Given the description of an element on the screen output the (x, y) to click on. 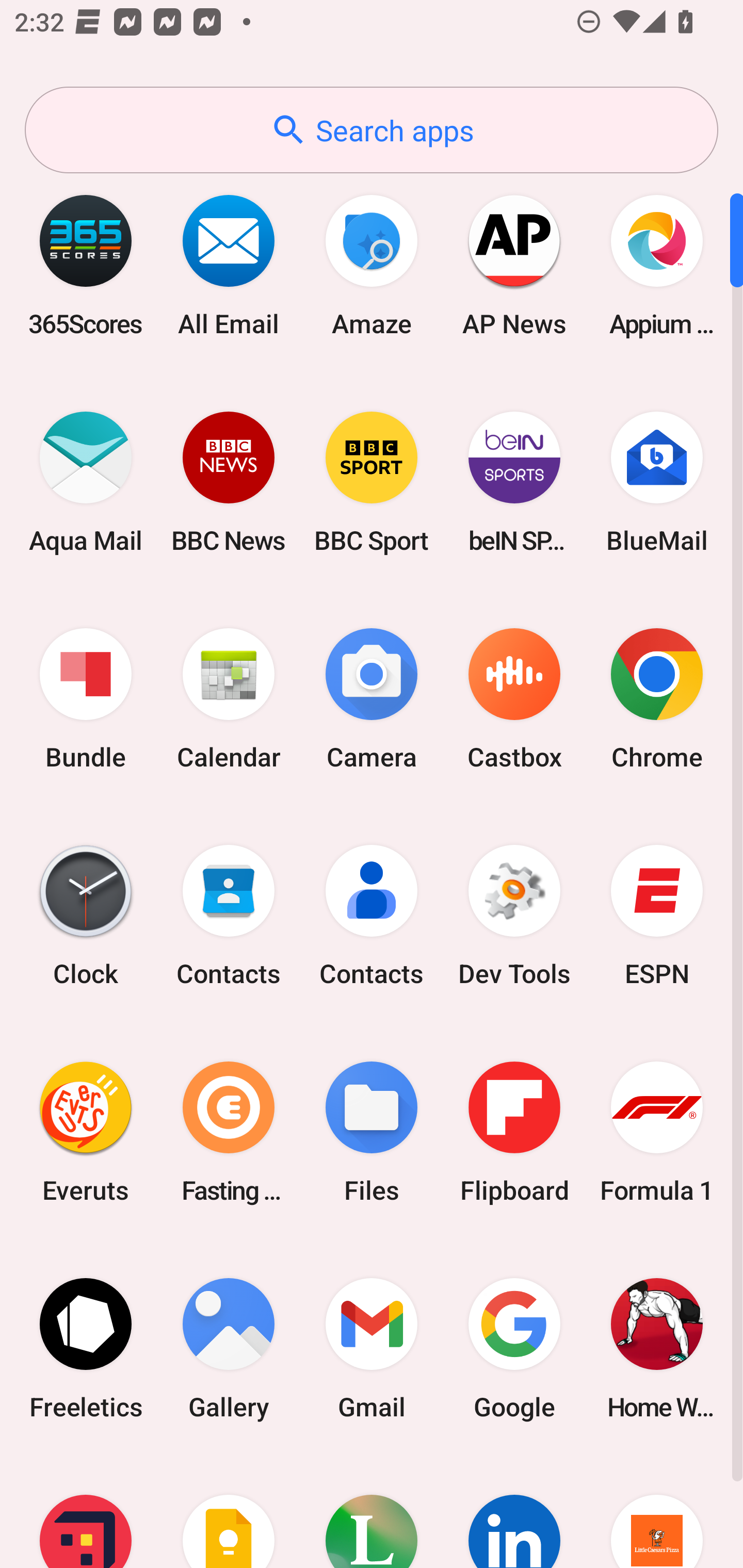
  Search apps (371, 130)
365Scores (85, 264)
All Email (228, 264)
Amaze (371, 264)
AP News (514, 264)
Appium Settings (656, 264)
Aqua Mail (85, 482)
BBC News (228, 482)
BBC Sport (371, 482)
beIN SPORTS (514, 482)
BlueMail (656, 482)
Bundle (85, 699)
Calendar (228, 699)
Camera (371, 699)
Castbox (514, 699)
Chrome (656, 699)
Clock (85, 915)
Contacts (228, 915)
Contacts (371, 915)
Dev Tools (514, 915)
ESPN (656, 915)
Everuts (85, 1131)
Fasting Coach (228, 1131)
Files (371, 1131)
Flipboard (514, 1131)
Formula 1 (656, 1131)
Freeletics (85, 1348)
Gallery (228, 1348)
Gmail (371, 1348)
Google (514, 1348)
Home Workout (656, 1348)
Hotels.com (85, 1512)
Keep Notes (228, 1512)
Lifesum (371, 1512)
LinkedIn (514, 1512)
Little Caesars Pizza (656, 1512)
